Given the description of an element on the screen output the (x, y) to click on. 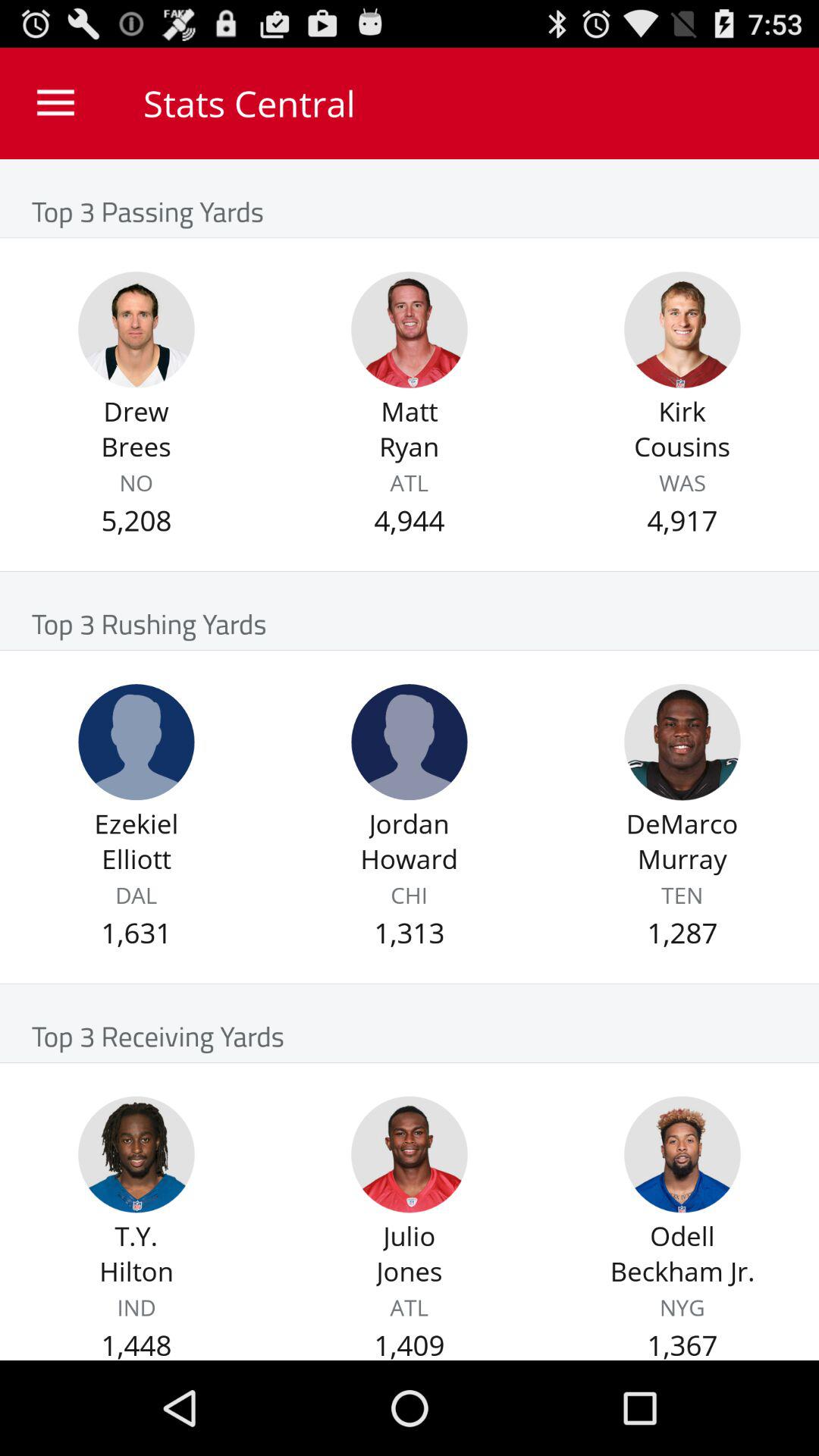
select kirk cousins (682, 329)
